Given the description of an element on the screen output the (x, y) to click on. 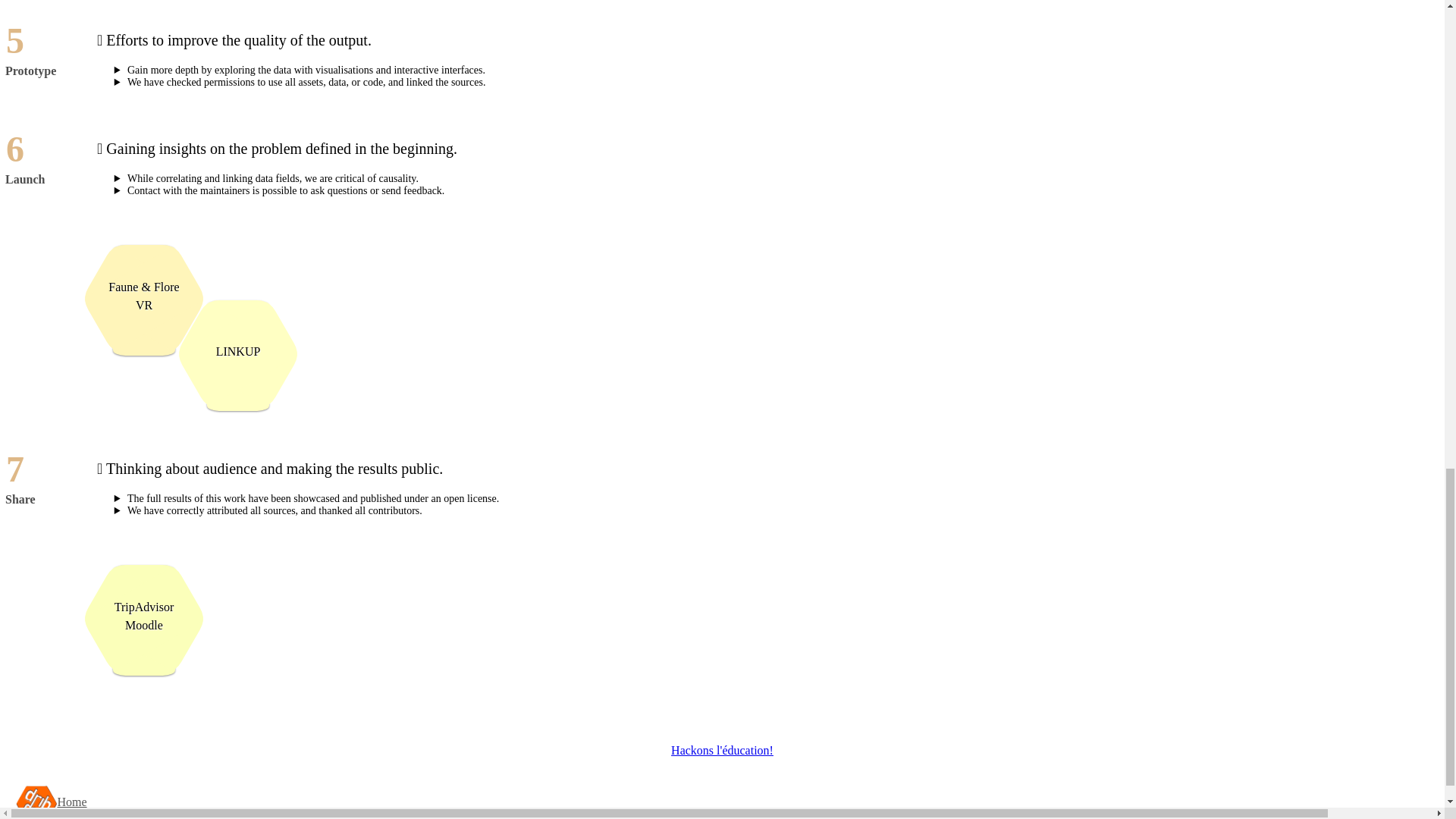
Home (70, 801)
GO HOME (70, 801)
